Given the description of an element on the screen output the (x, y) to click on. 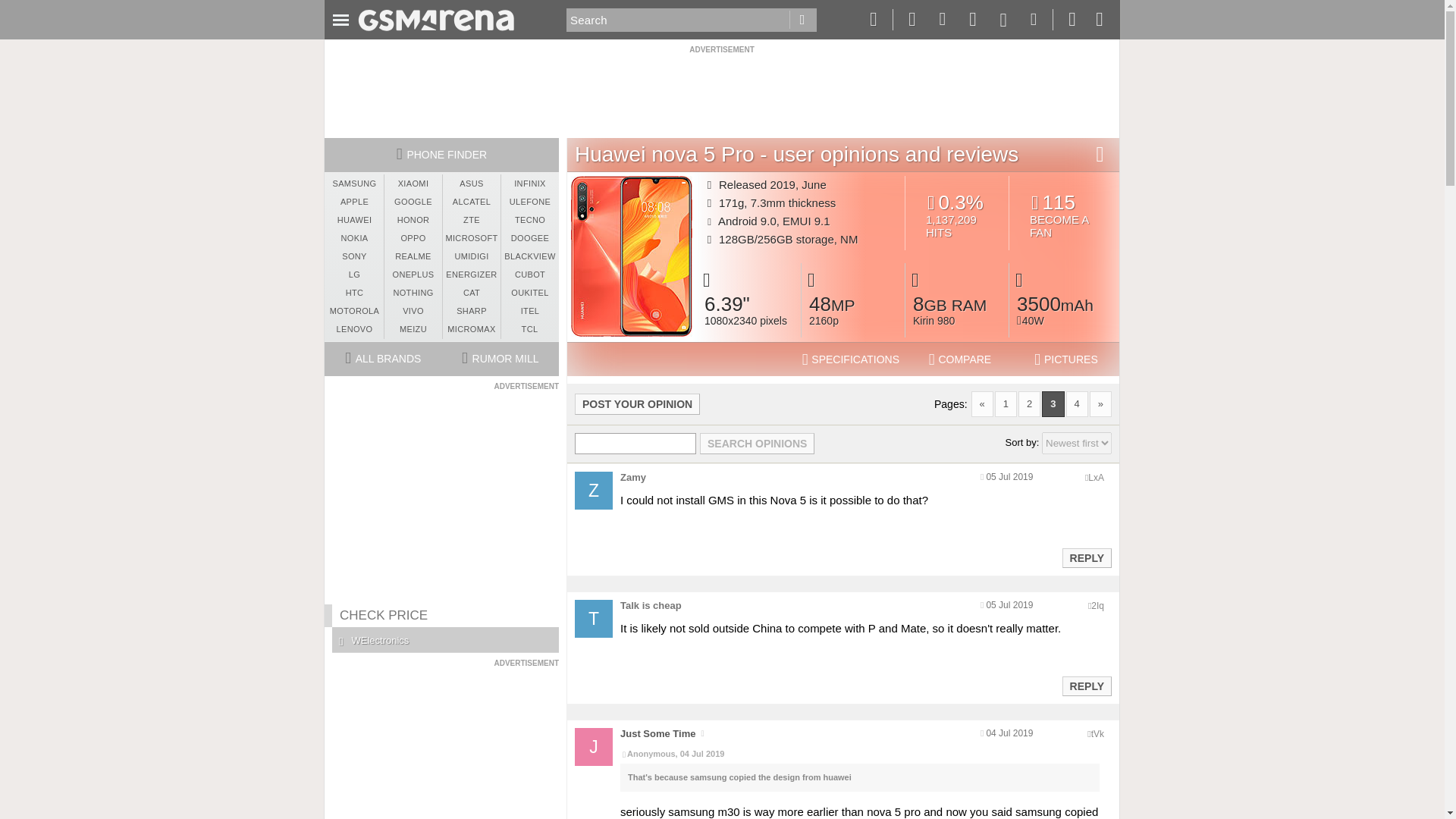
Search opinions (756, 443)
POST YOUR OPINION (637, 403)
Reply to this post (1086, 558)
REPLY (1086, 686)
Search opinions (756, 443)
Encoded anonymized location (1095, 477)
Reply to this post (1064, 214)
Encoded anonymized location (1086, 686)
